Given the description of an element on the screen output the (x, y) to click on. 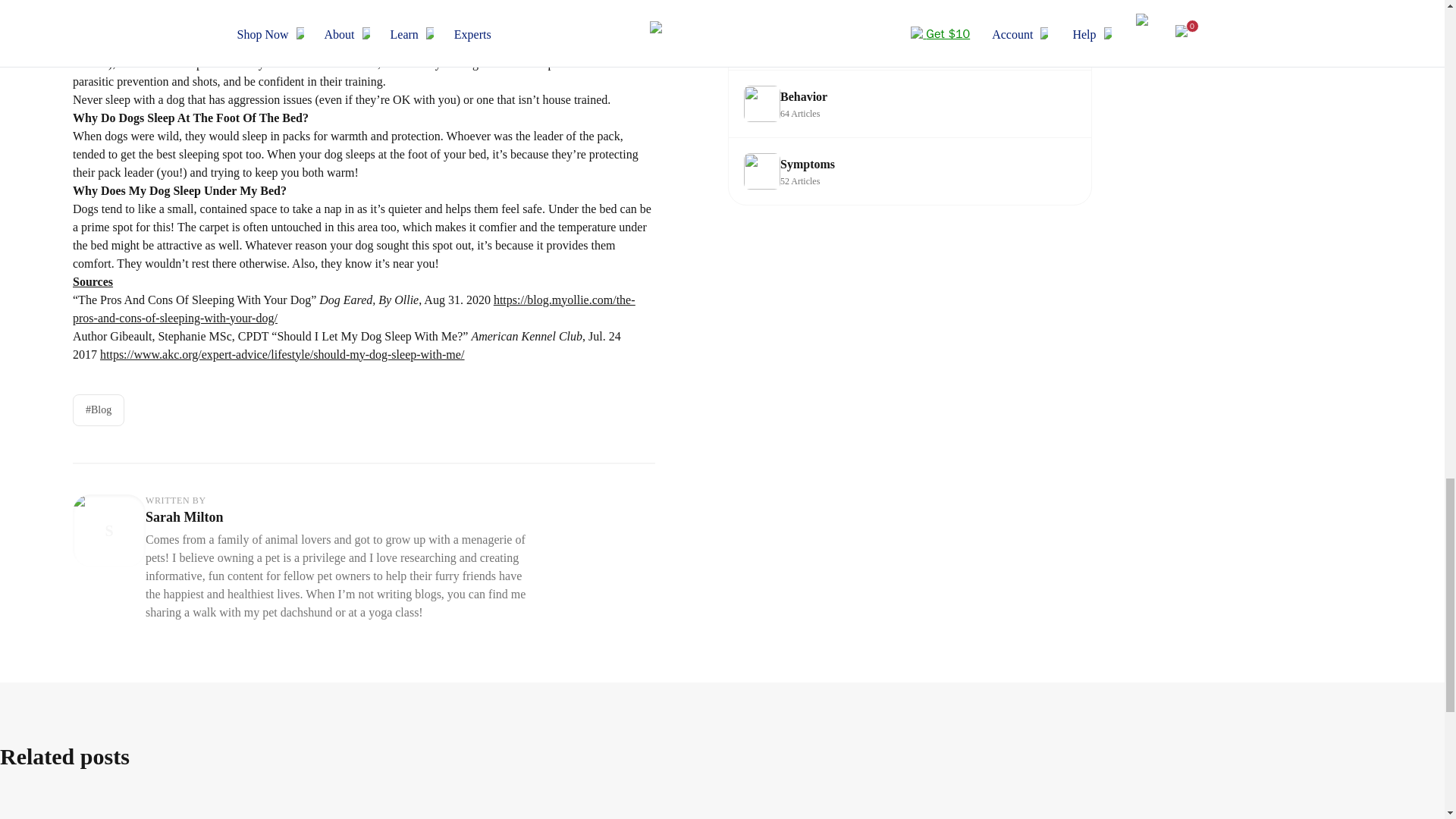
Sarah Milton (184, 516)
